Given the description of an element on the screen output the (x, y) to click on. 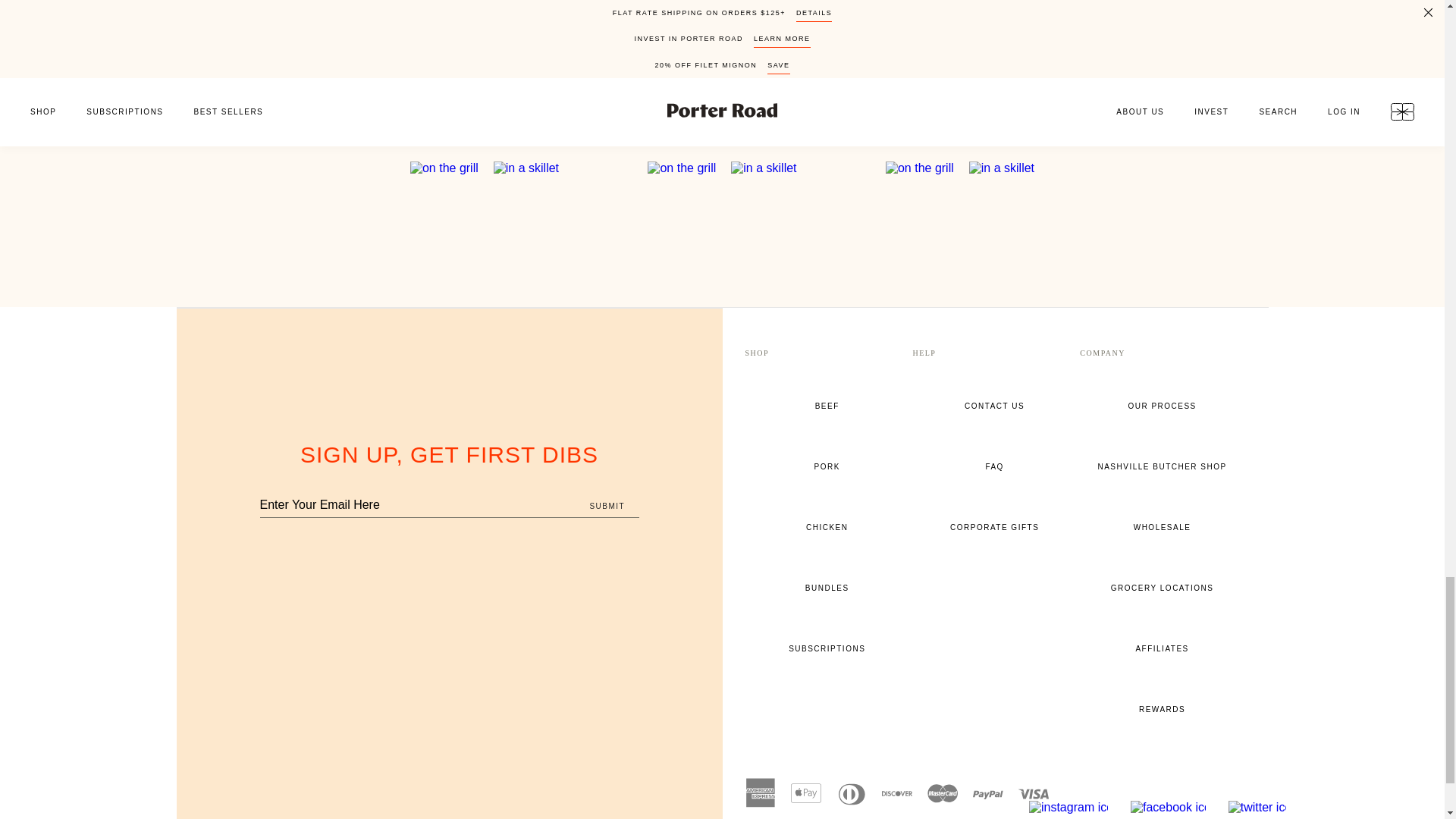
Discover (895, 793)
American Express (759, 793)
Diner's Club (850, 793)
Visa (1032, 793)
Apple Pay (805, 793)
PayPal (987, 793)
MasterCard (941, 793)
Submit (606, 506)
